Given the description of an element on the screen output the (x, y) to click on. 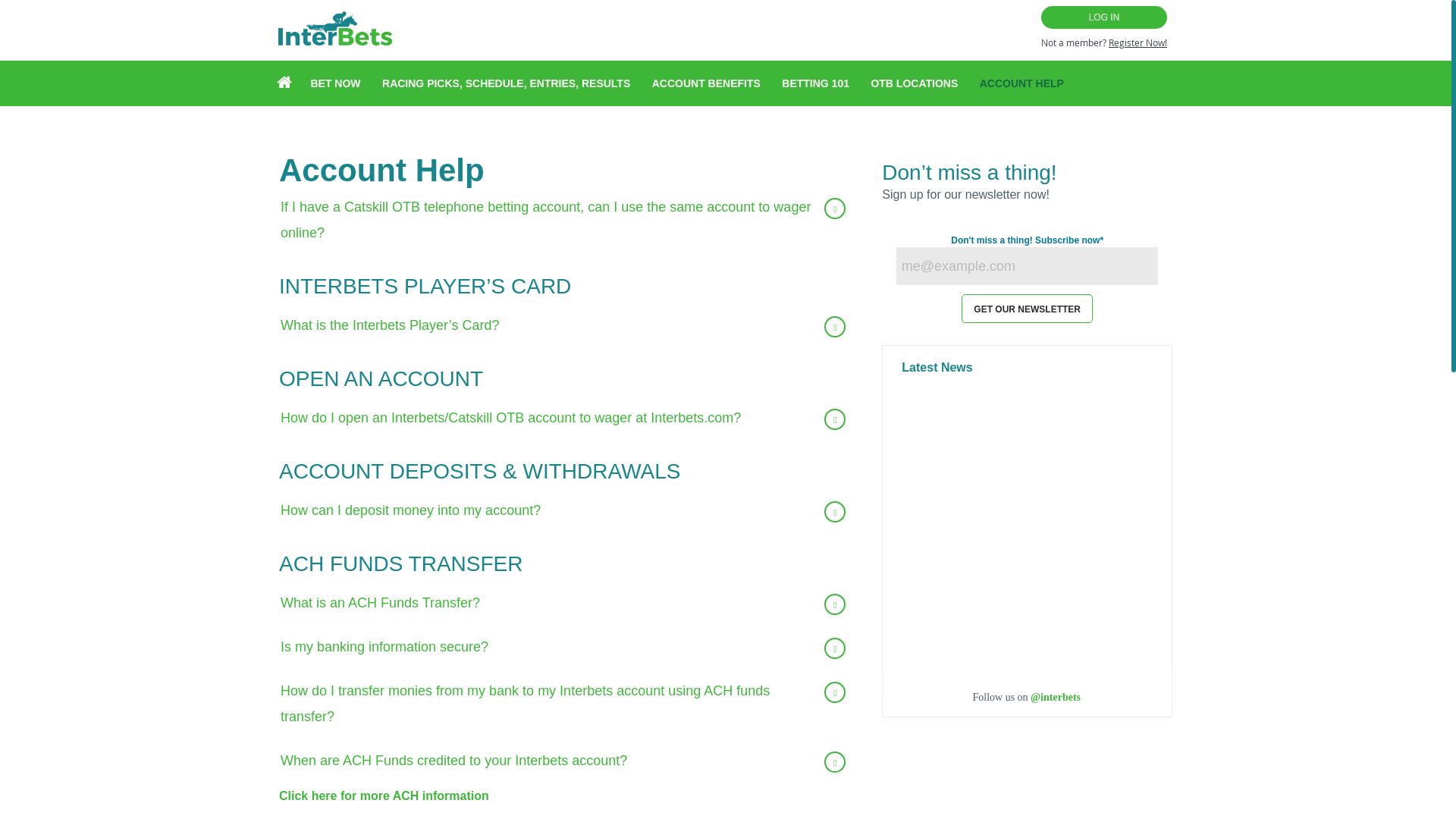
The Don't miss a thing! Subscribe now field is required (1101, 240)
RACING PICKS, SCHEDULE, ENTRIES, RESULTS (505, 83)
Get Our Newsletter (1026, 308)
HOME (284, 83)
ACCOUNT BENEFITS (706, 83)
BETTING 101 (814, 83)
BET NOW (334, 83)
